Given the description of an element on the screen output the (x, y) to click on. 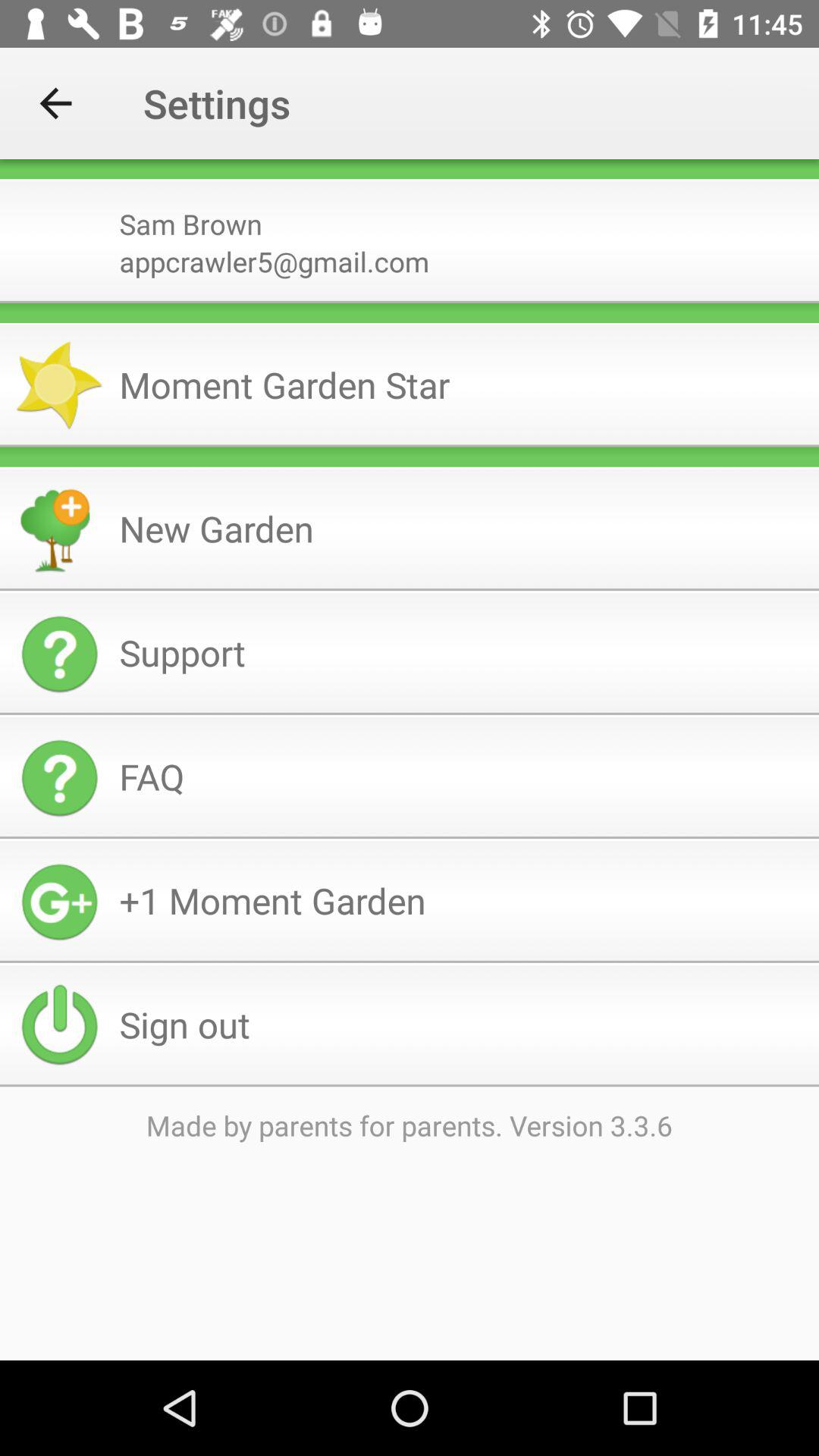
swipe until the support icon (463, 652)
